Given the description of an element on the screen output the (x, y) to click on. 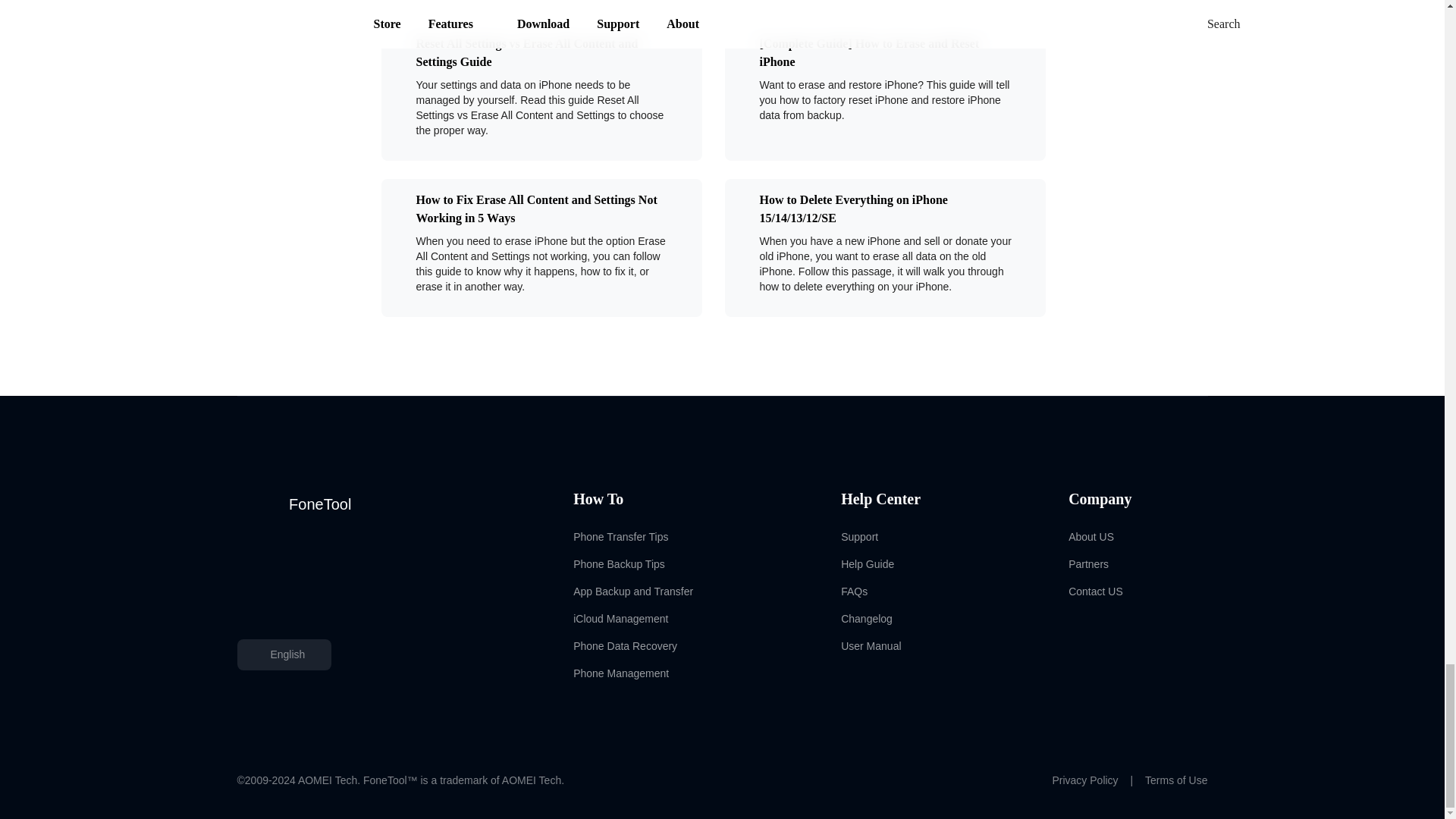
Reset All Settings vs Erase All Content and Settings Guide (532, 53)
